Given the description of an element on the screen output the (x, y) to click on. 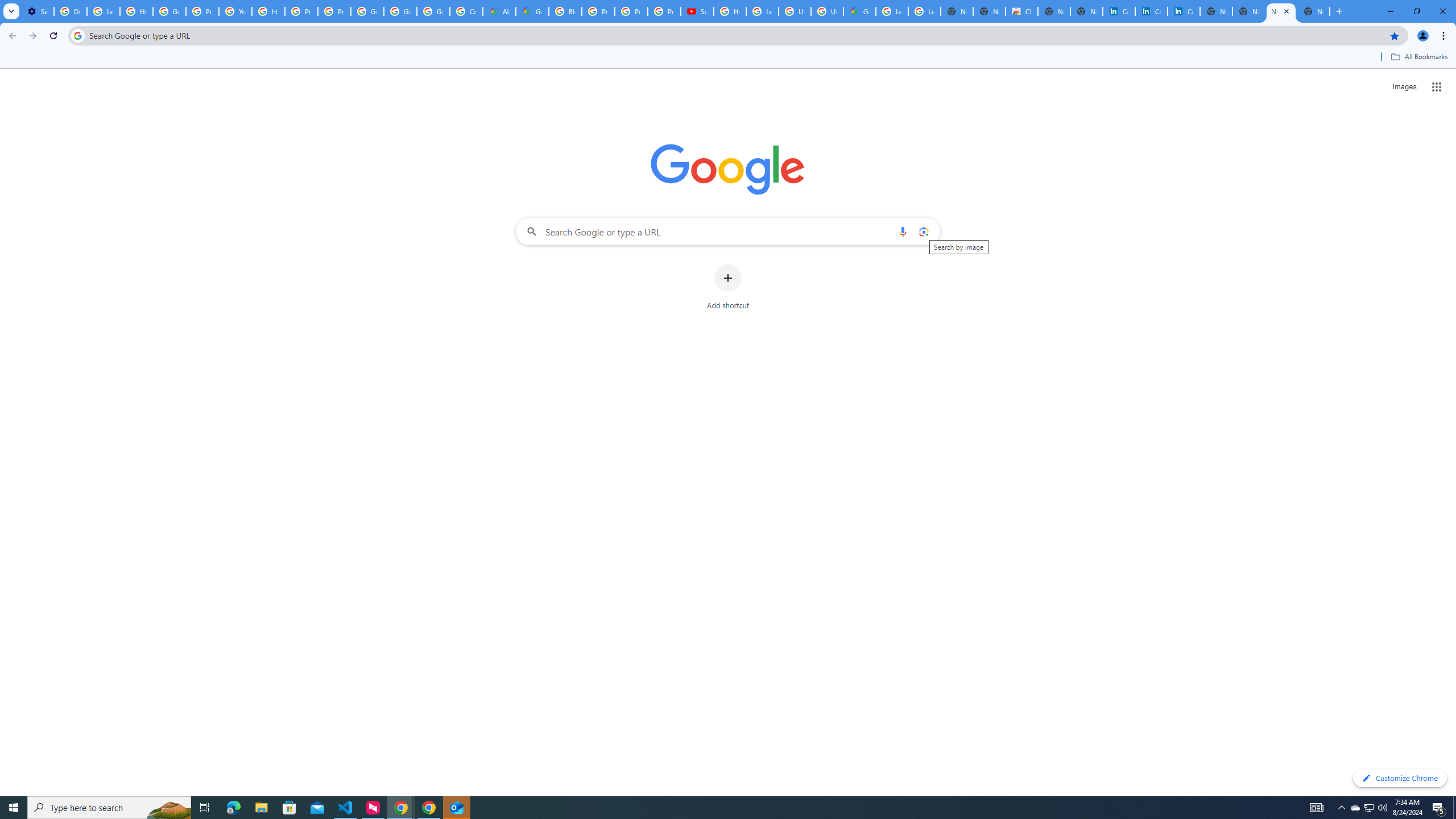
Search Google or type a URL (727, 230)
How Chrome protects your passwords - Google Chrome Help (730, 11)
Blogger Policies and Guidelines - Transparency Center (564, 11)
Delete photos & videos - Computer - Google Photos Help (70, 11)
Privacy Help Center - Policies Help (202, 11)
Privacy Help Center - Policies Help (301, 11)
